Given the description of an element on the screen output the (x, y) to click on. 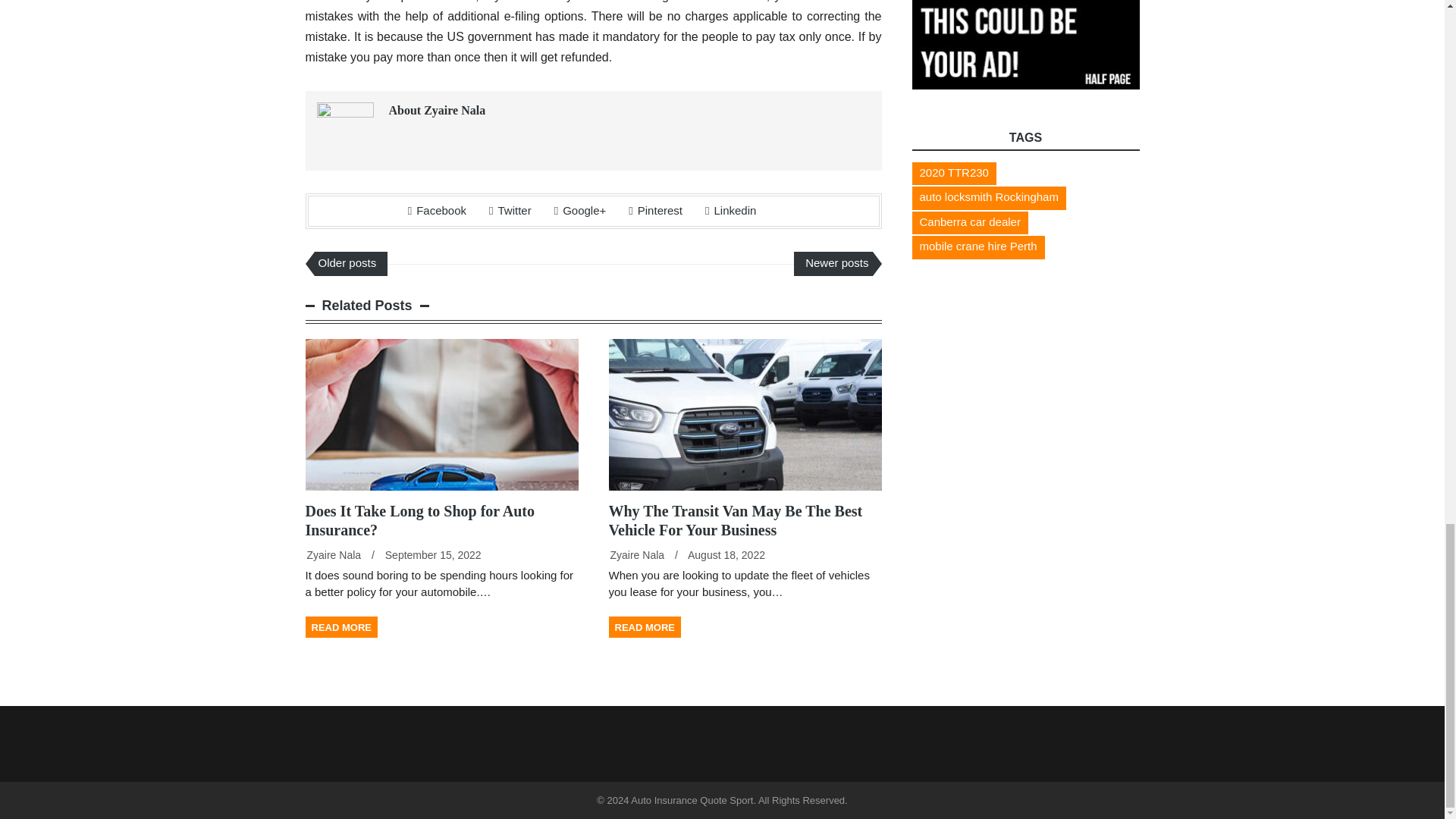
Facebook (436, 210)
Twitter (510, 210)
Posts by Zyaire Nala (333, 553)
Posts by Zyaire Nala (636, 553)
